Given the description of an element on the screen output the (x, y) to click on. 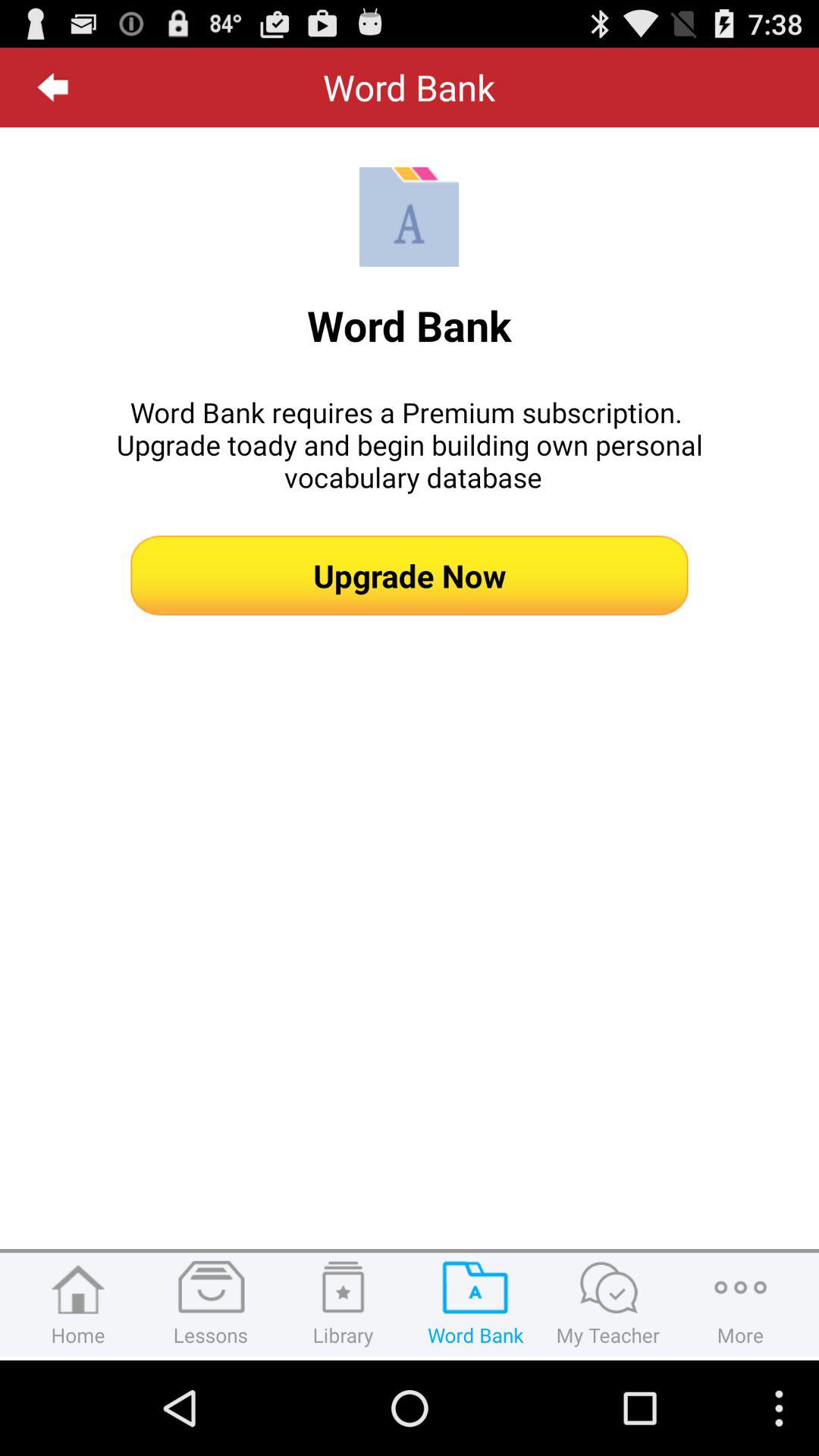
flip to the upgrade now button (409, 575)
